Given the description of an element on the screen output the (x, y) to click on. 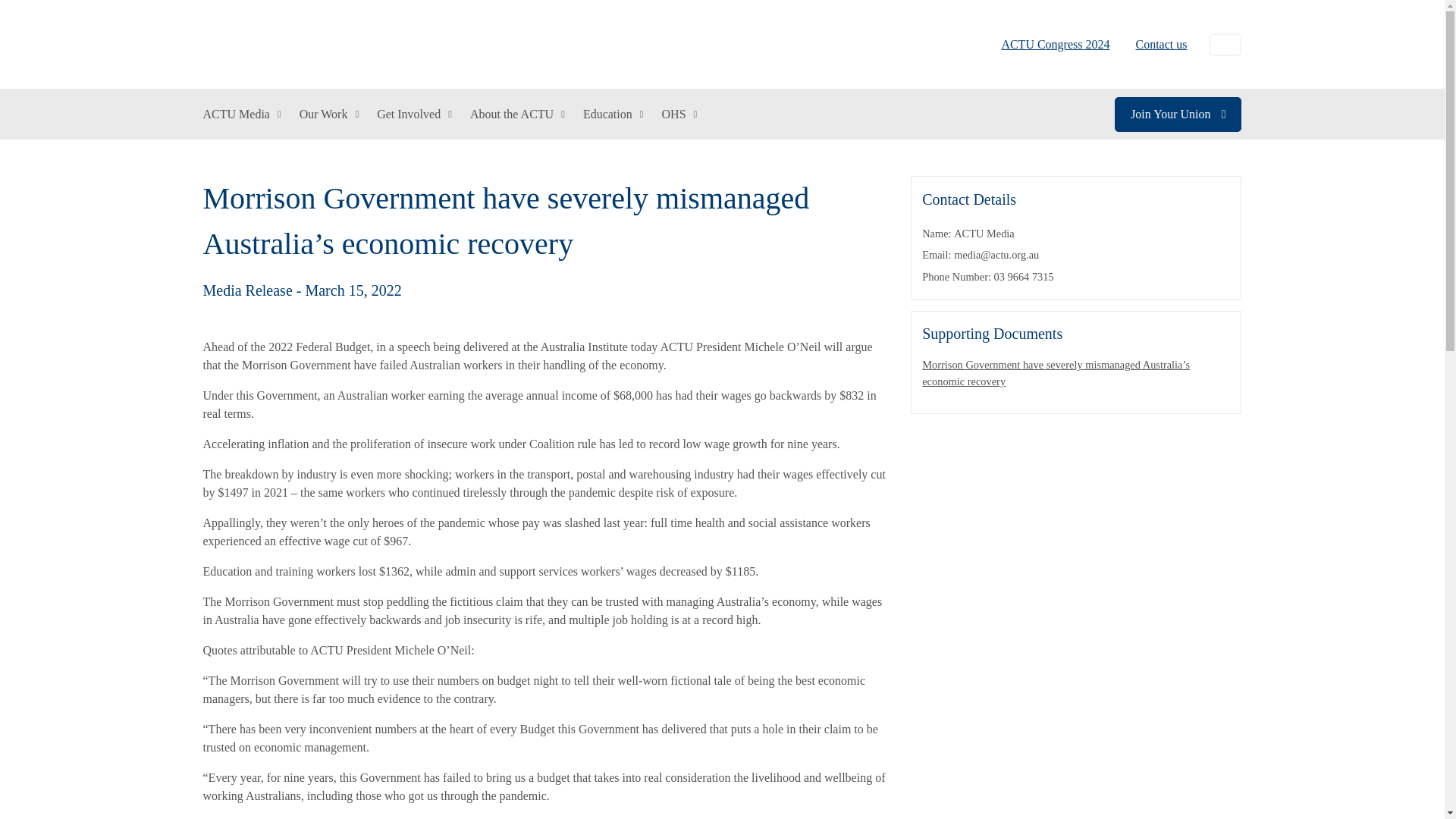
ACTU Congress 2024 (1055, 43)
ACTU Congress 2024 (1055, 43)
Contact us (1155, 43)
Join Your Union (1178, 114)
Contact us (1155, 43)
ACTU Media (242, 114)
